Given the description of an element on the screen output the (x, y) to click on. 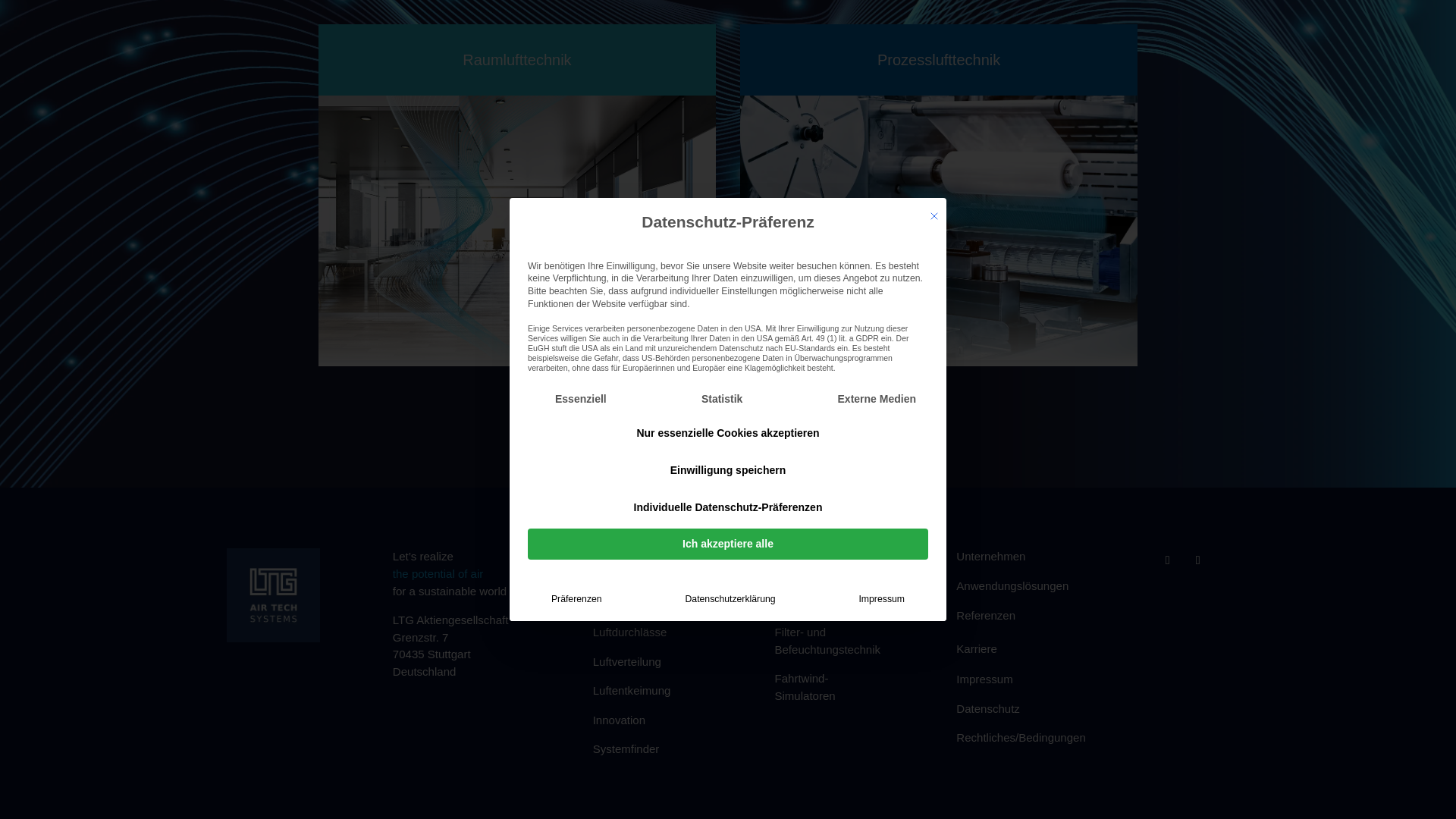
Folge auf LinkedIn (1197, 559)
Folge auf XING (1167, 559)
